Given the description of an element on the screen output the (x, y) to click on. 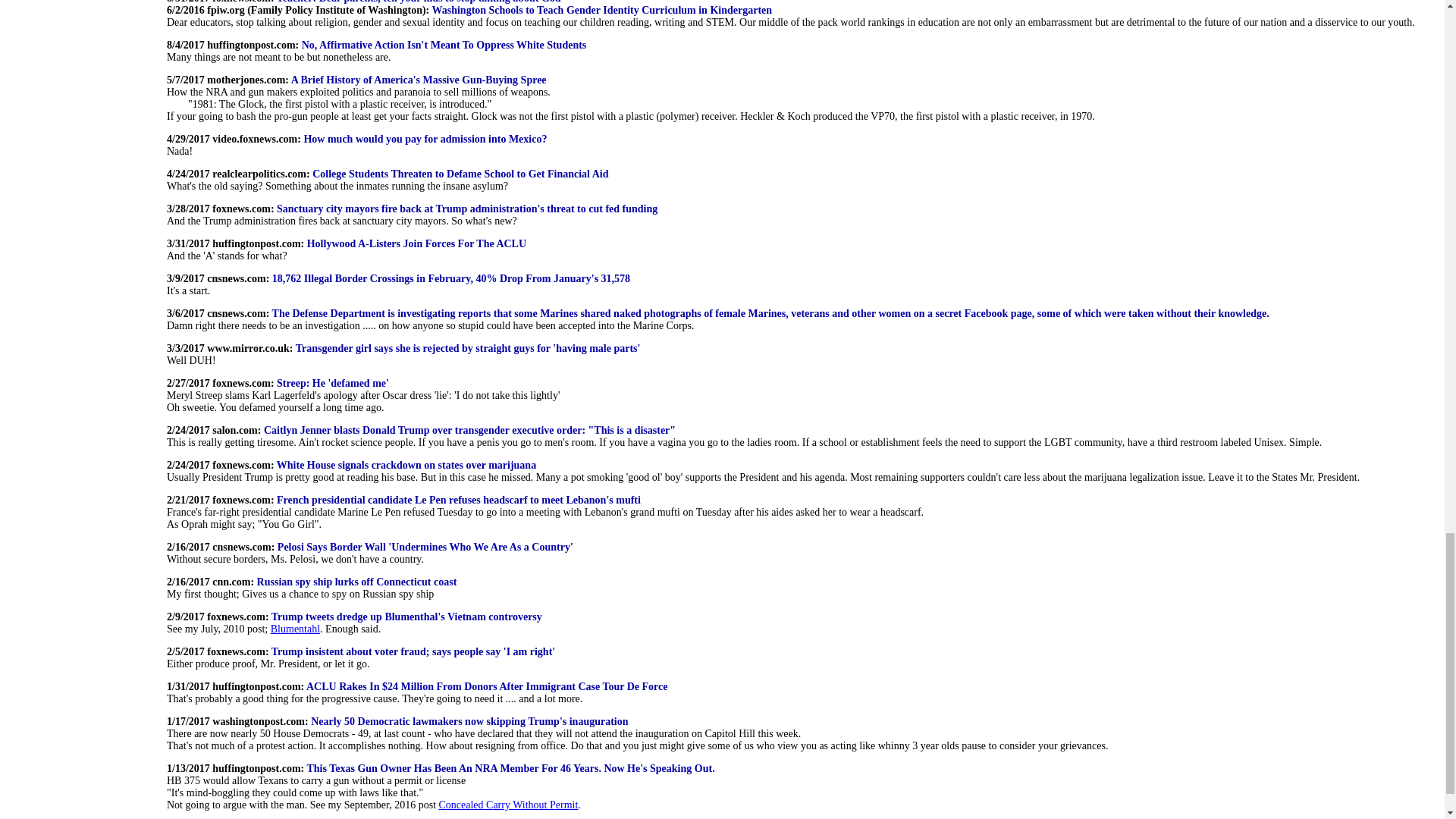
Concealed Carry Without Permit. (508, 804)
Blumentahl (295, 628)
